Given the description of an element on the screen output the (x, y) to click on. 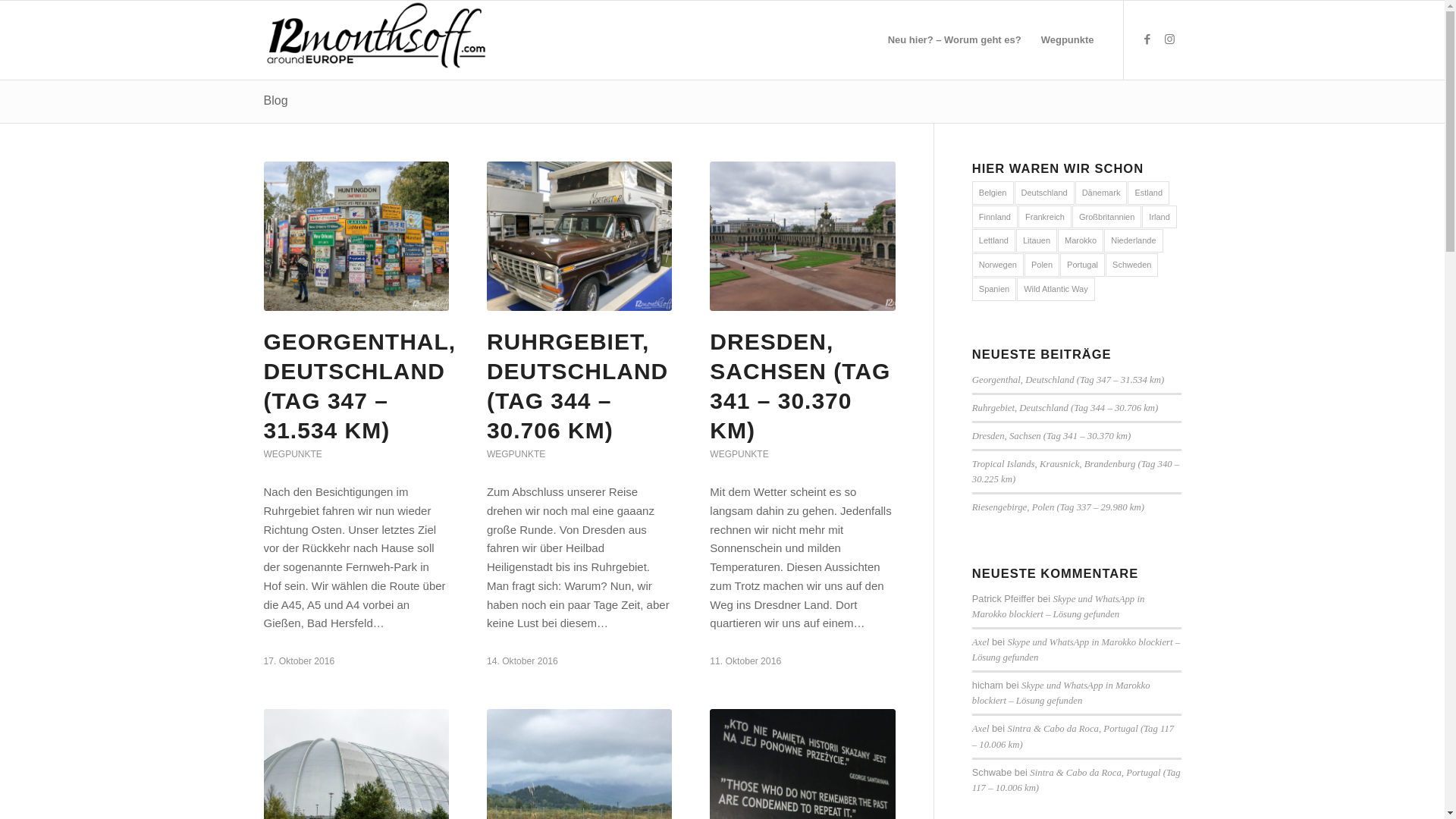
Belgien Element type: text (992, 192)
Facebook Element type: hover (1146, 39)
WEGPUNKTE Element type: text (515, 453)
Spanien Element type: text (994, 289)
Norwegen Element type: text (997, 264)
Wild Atlantic Way Element type: text (1055, 289)
Frankreich Element type: text (1044, 217)
WEGPUNKTE Element type: text (738, 453)
Estland Element type: text (1148, 192)
Polen Element type: text (1041, 264)
Schweden Element type: text (1131, 264)
Niederlande Element type: text (1133, 240)
Blog Element type: text (275, 100)
Finnland Element type: text (994, 217)
Deutschland Element type: text (1044, 192)
Irland Element type: text (1159, 217)
Axel Element type: text (980, 642)
Lettland Element type: text (993, 240)
Instagram Element type: hover (1169, 39)
Axel Element type: text (980, 728)
Portugal Element type: text (1082, 264)
Marokko Element type: text (1080, 240)
Wegpunkte Element type: text (1067, 39)
WEGPUNKTE Element type: text (292, 453)
Litauen Element type: text (1036, 240)
